Given the description of an element on the screen output the (x, y) to click on. 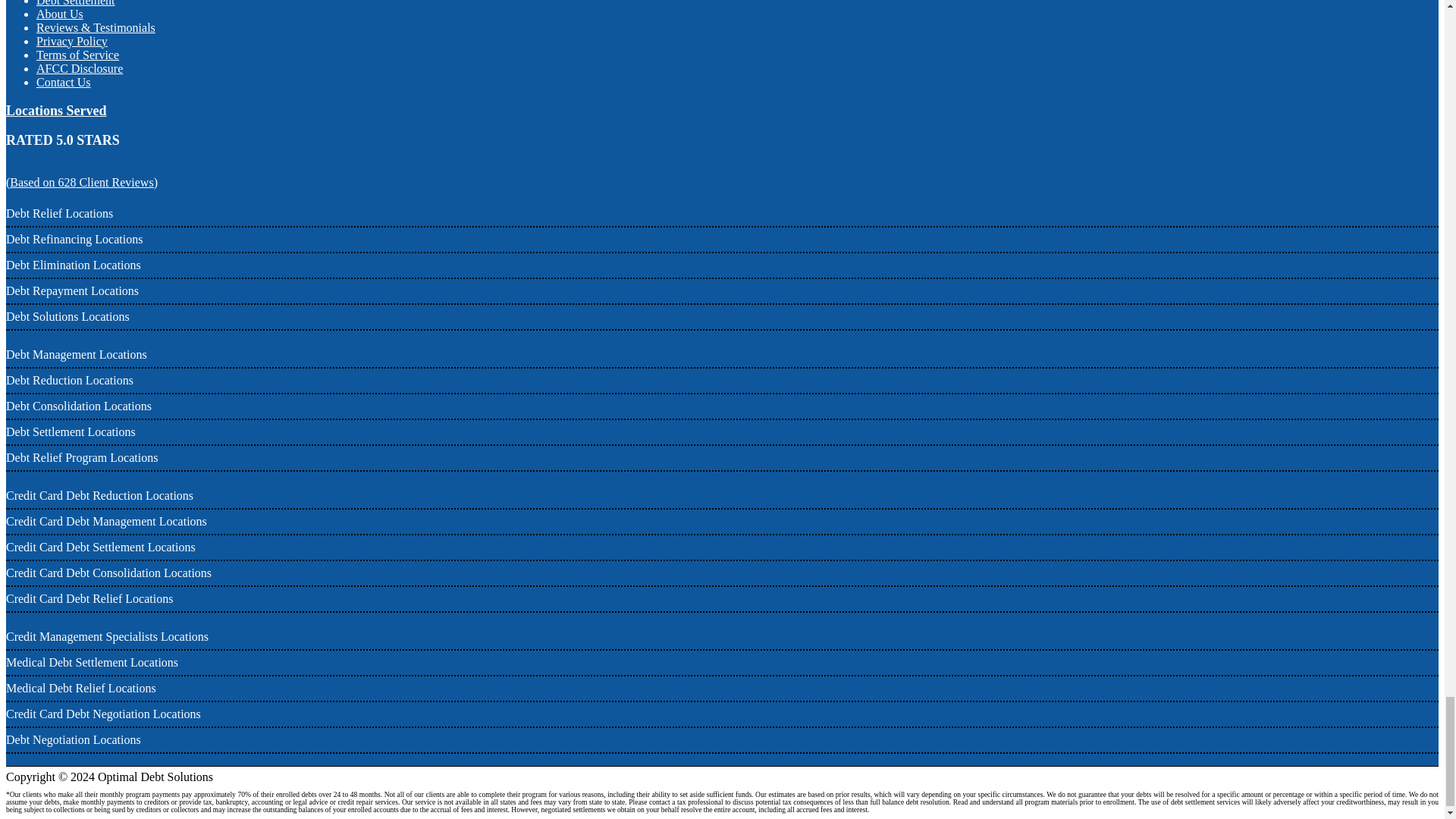
Debt Settlement (75, 3)
